Given the description of an element on the screen output the (x, y) to click on. 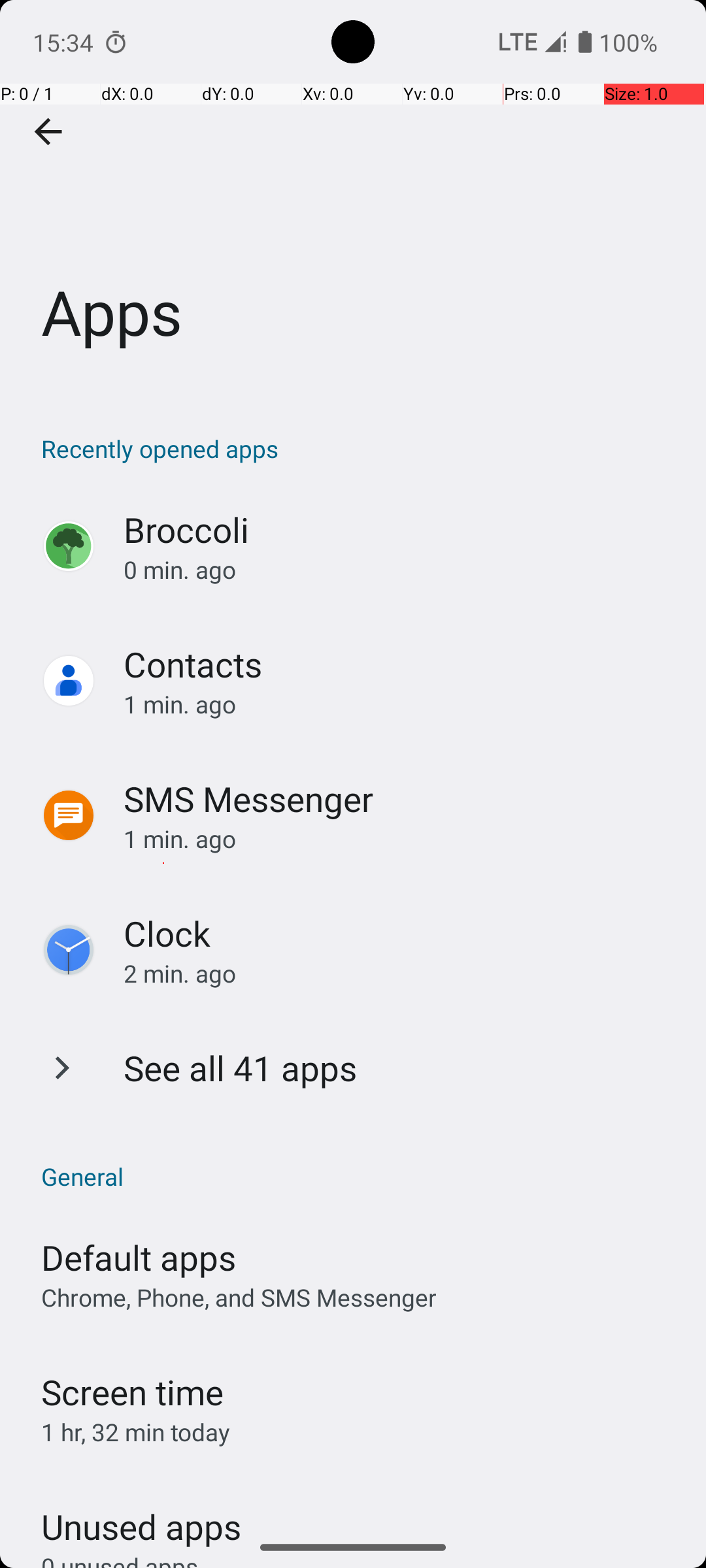
Recently opened apps Element type: android.widget.TextView (359, 448)
0 min. ago Element type: android.widget.TextView (400, 569)
1 min. ago Element type: android.widget.TextView (400, 703)
2 min. ago Element type: android.widget.TextView (400, 972)
See all 41 apps Element type: android.widget.TextView (239, 1067)
Chrome, Phone, and SMS Messenger Element type: android.widget.TextView (238, 1296)
1 hr, 32 min today Element type: android.widget.TextView (135, 1431)
Unused apps Element type: android.widget.TextView (141, 1514)
